Given the description of an element on the screen output the (x, y) to click on. 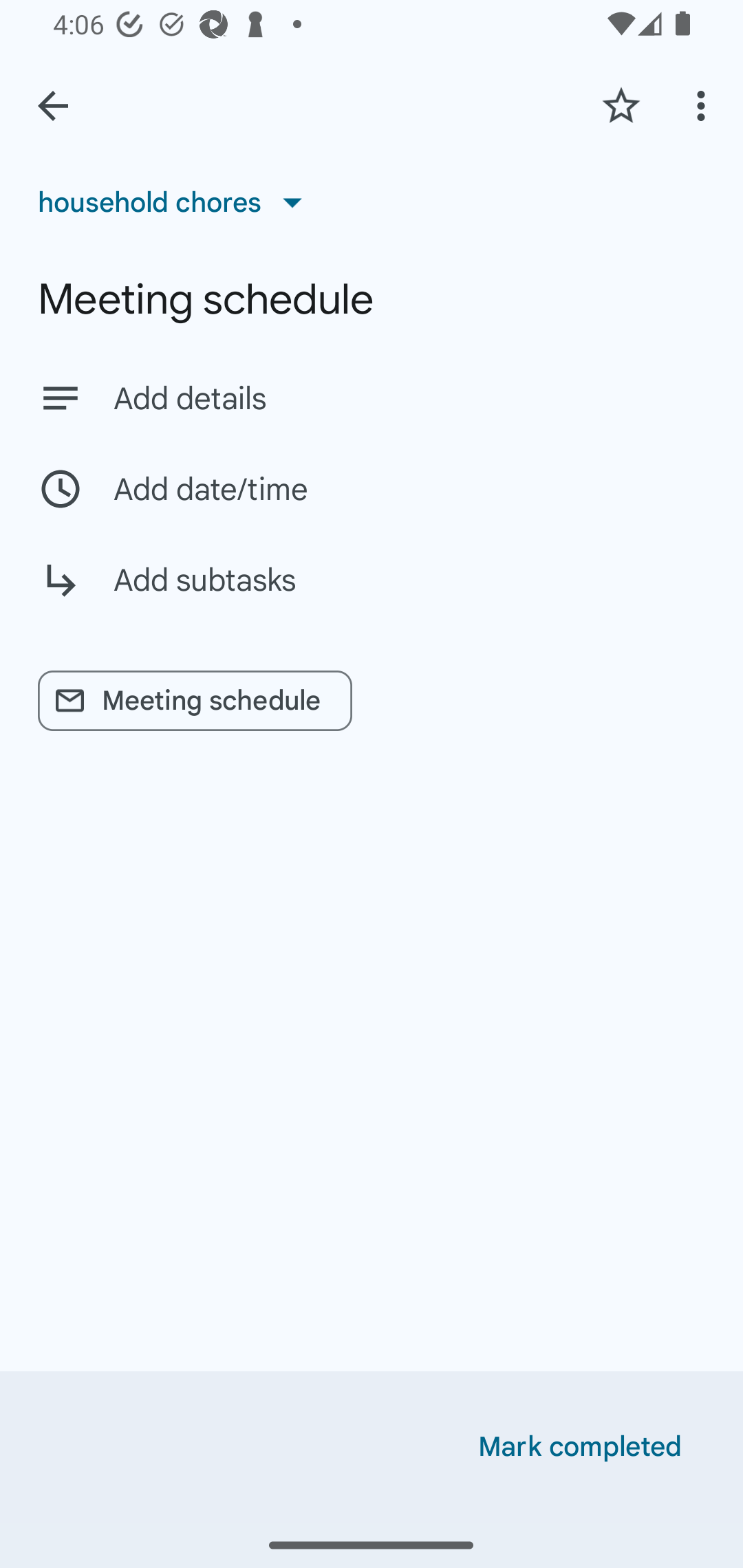
Back (53, 105)
Add star (620, 105)
More options (704, 105)
Meeting schedule (371, 299)
Add details (371, 397)
Add details (409, 397)
Add date/time (371, 488)
Add subtasks (371, 594)
Meeting schedule Related link (194, 700)
Mark completed (580, 1446)
